Given the description of an element on the screen output the (x, y) to click on. 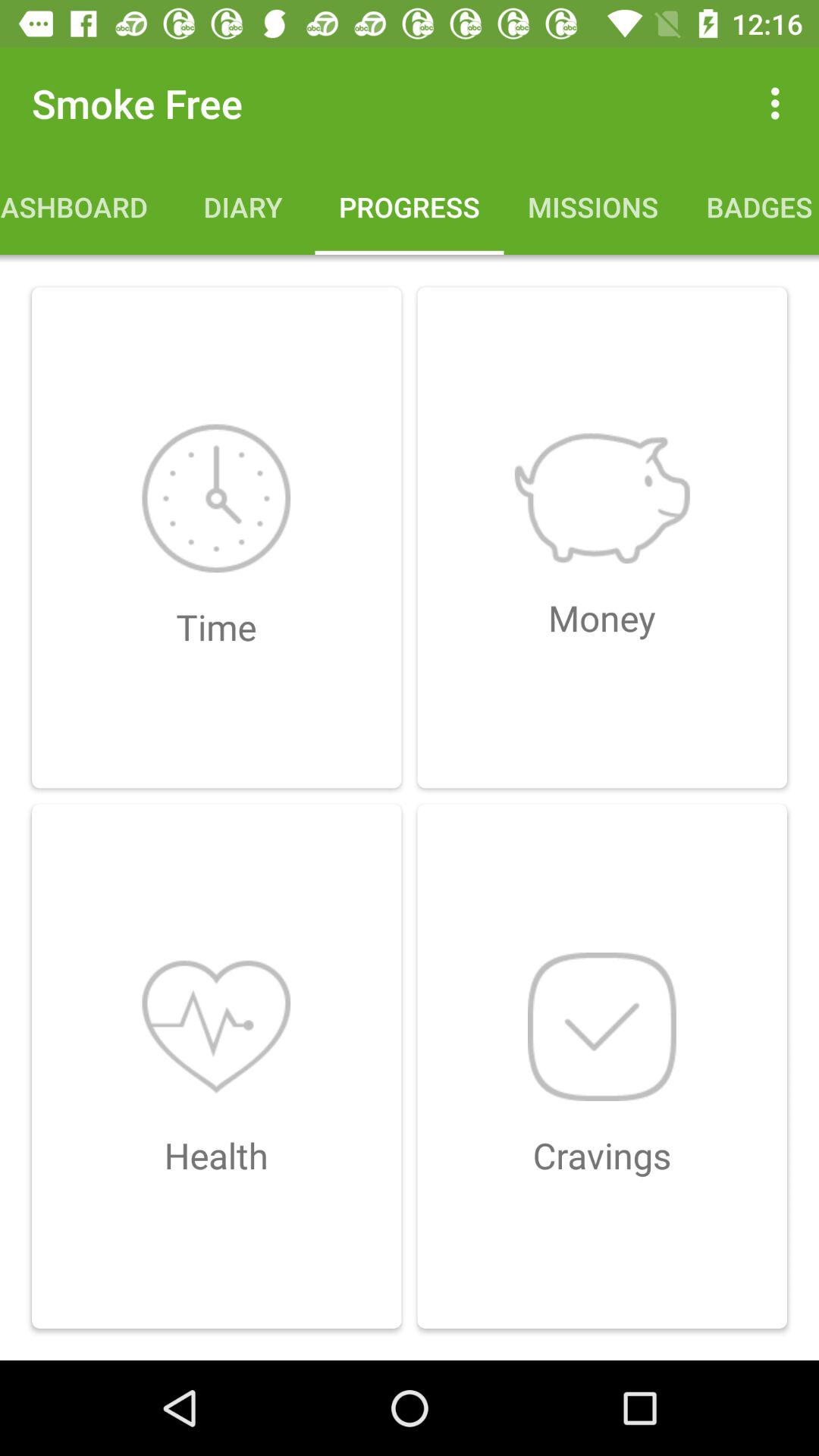
turn off the item above badges item (779, 103)
